Given the description of an element on the screen output the (x, y) to click on. 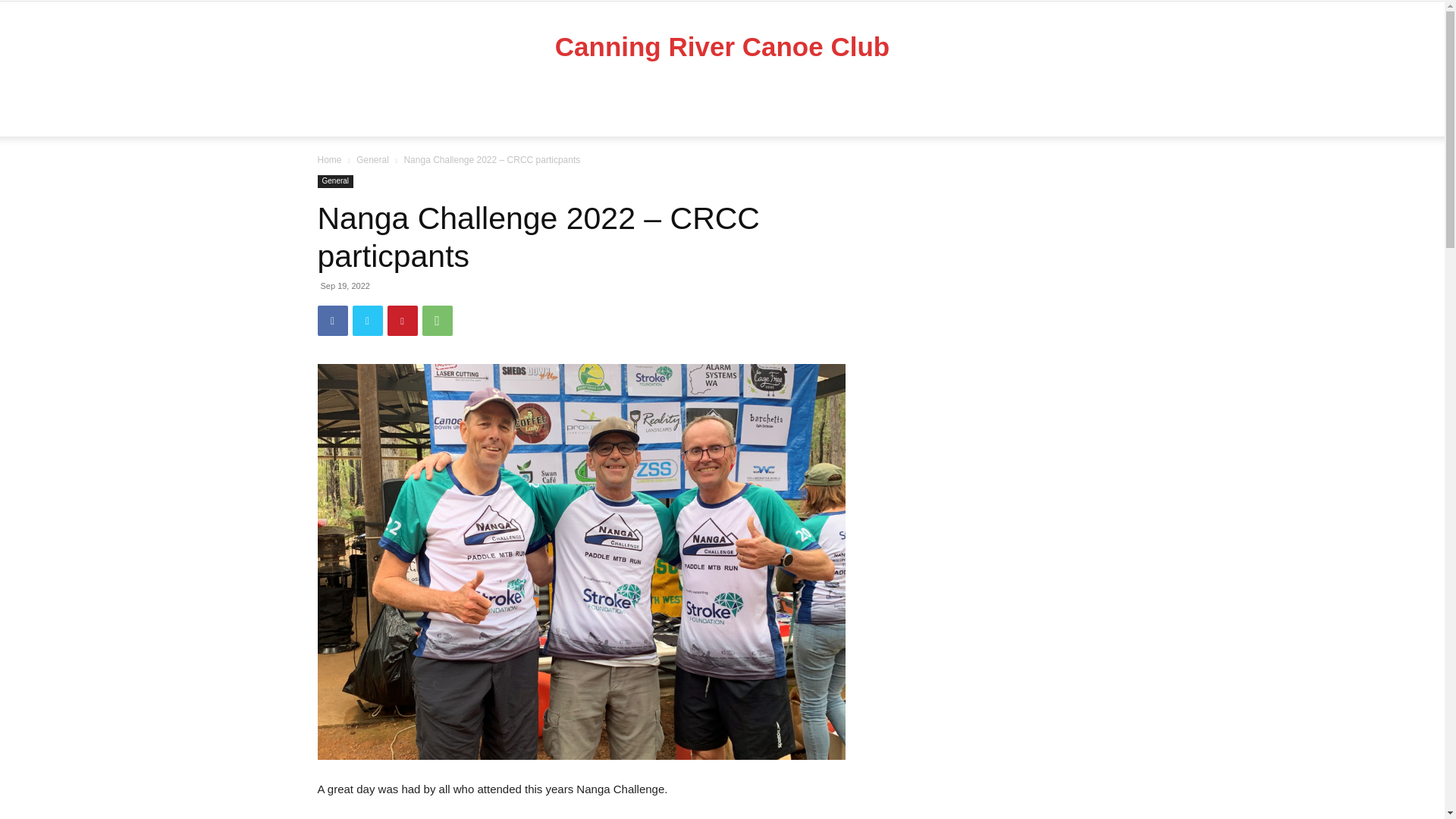
WhatsApp (436, 320)
View all posts in General (372, 159)
Twitter (366, 320)
Pinterest (401, 320)
Facebook (332, 320)
